Given the description of an element on the screen output the (x, y) to click on. 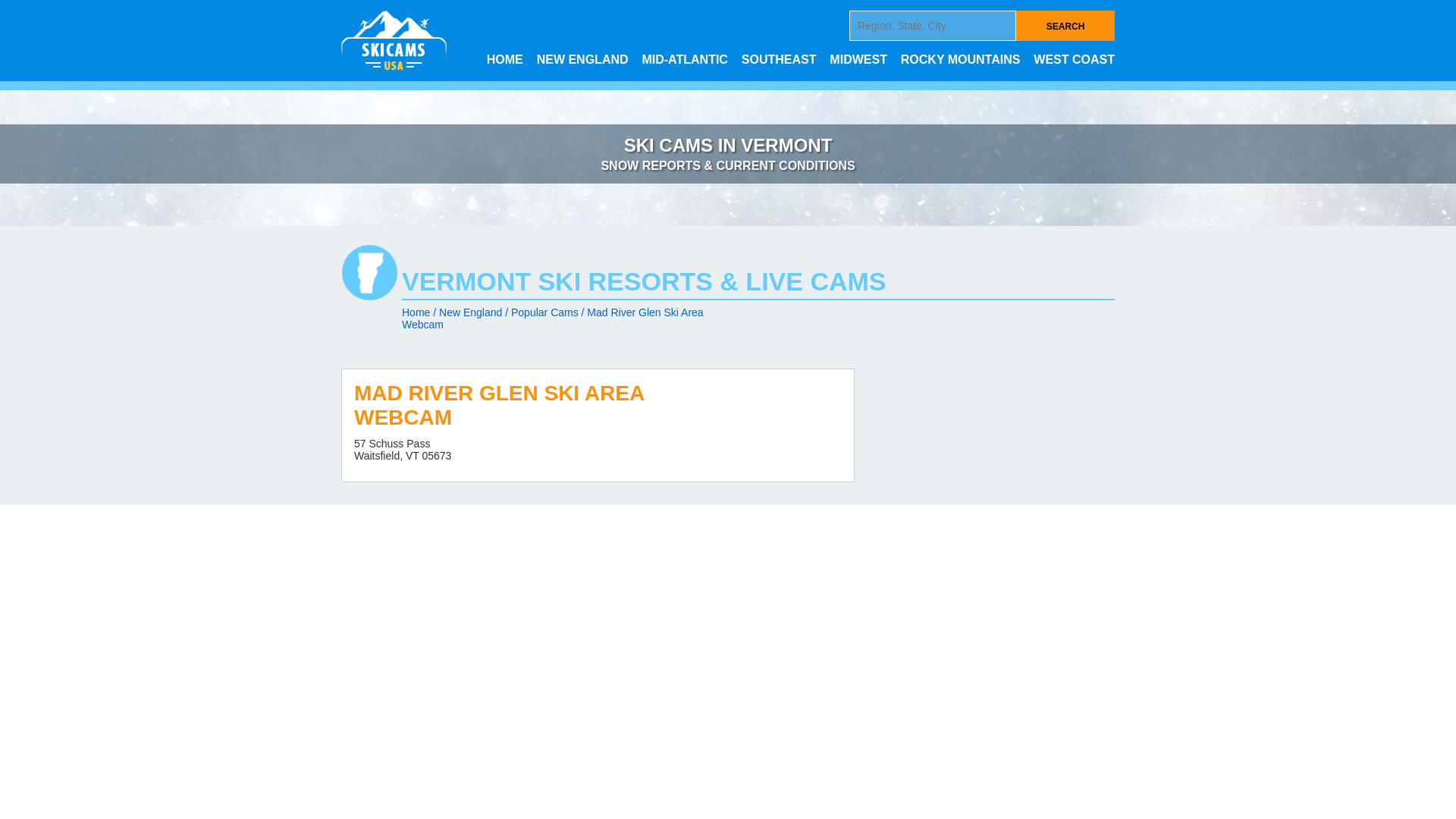
Go to home page. (415, 312)
Search (1065, 25)
Search (1065, 25)
Go to the Popular Cams category archives. (544, 312)
